Given the description of an element on the screen output the (x, y) to click on. 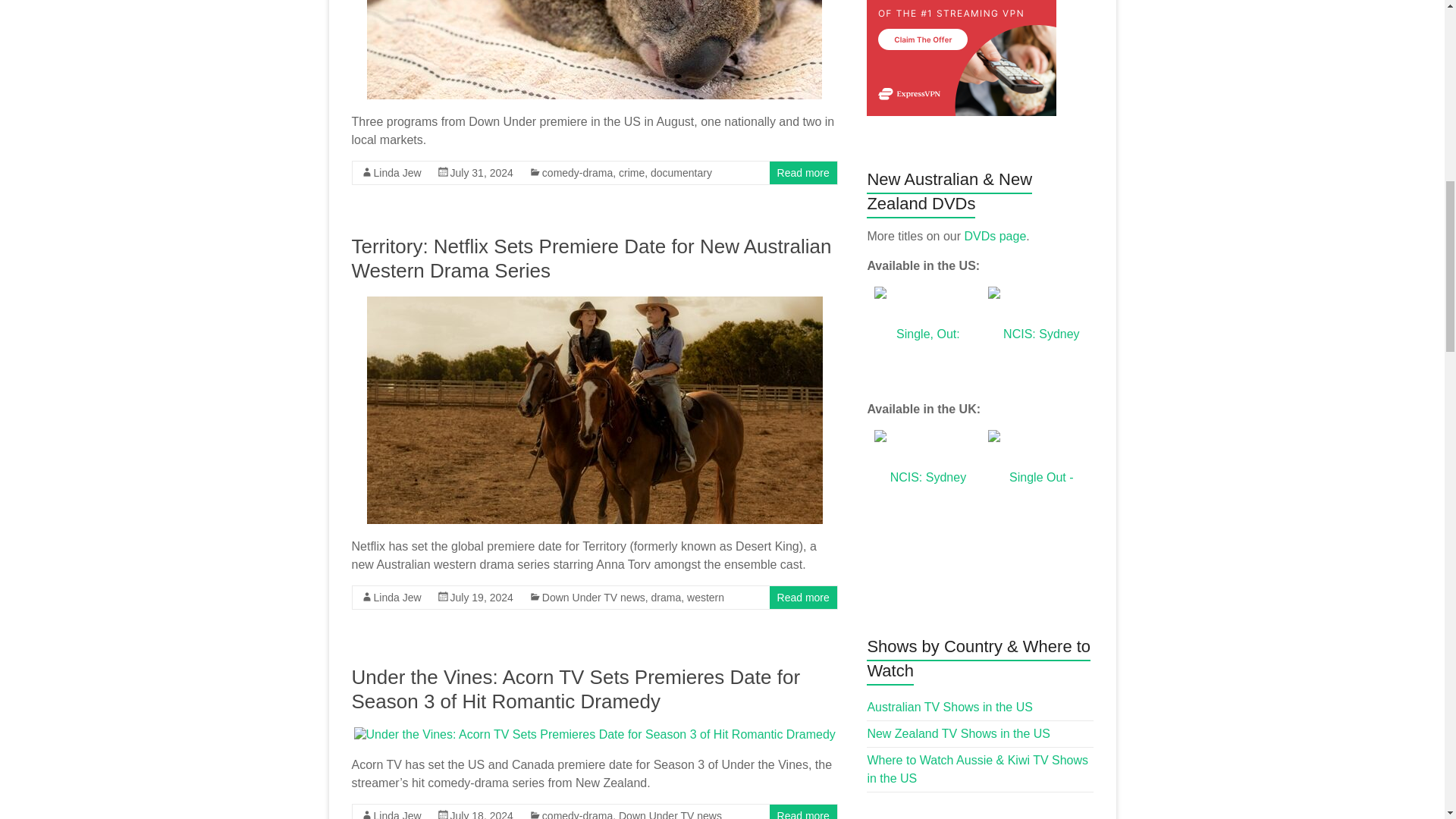
Read more (803, 173)
2:40 PM (481, 597)
drama (665, 597)
Down Under TV news (670, 814)
July 31, 2024 (481, 173)
comedy-drama (576, 173)
